Given the description of an element on the screen output the (x, y) to click on. 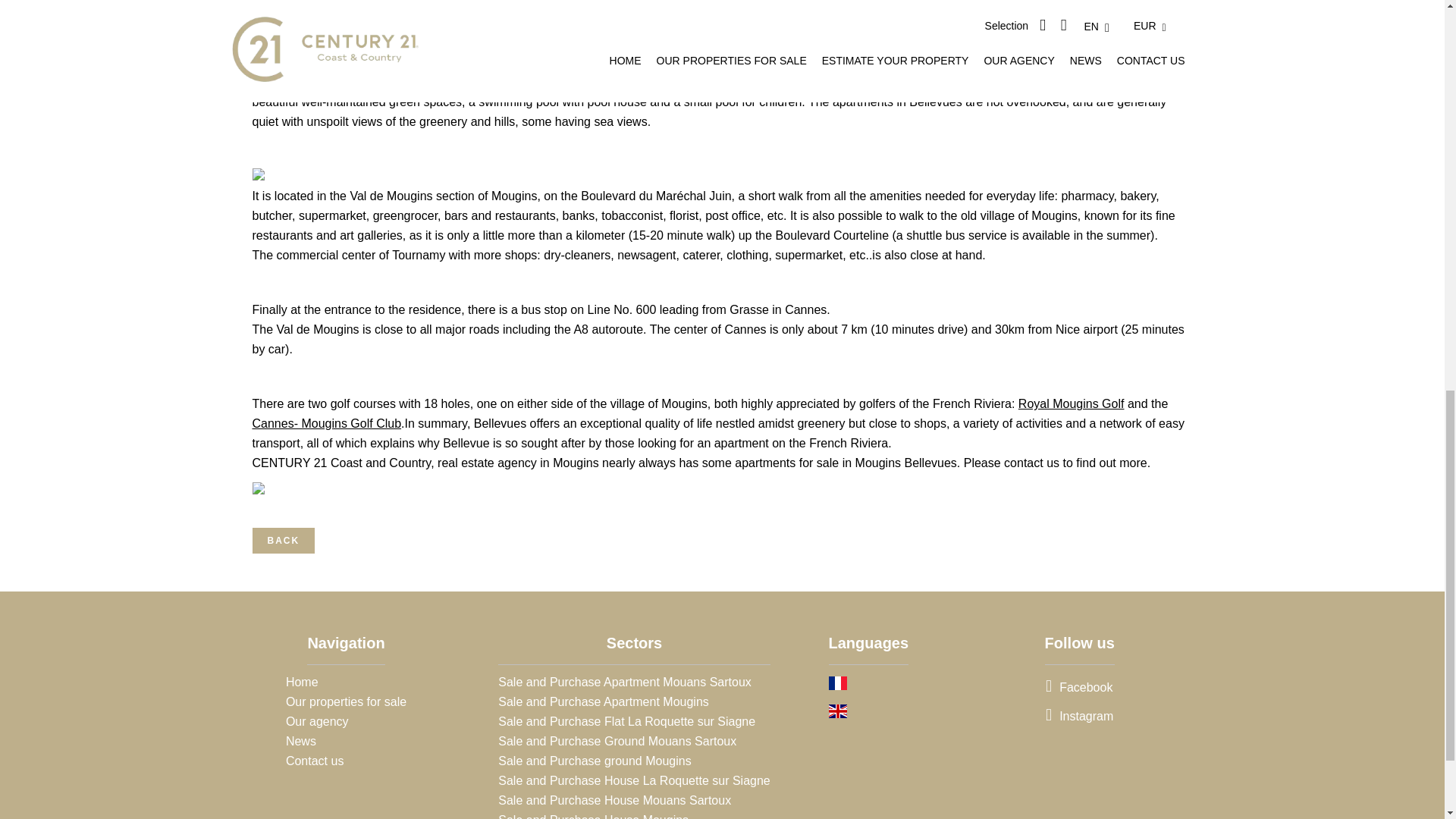
Facebook (1078, 686)
Cannes- Mougins Golf Club (326, 422)
Mougins (514, 195)
News (300, 740)
Our properties for sale (345, 701)
Royal Mougins Golf (1070, 403)
BACK (282, 539)
Home (301, 681)
Contact us (314, 760)
Our agency (317, 721)
Instagram (1079, 716)
